Given the description of an element on the screen output the (x, y) to click on. 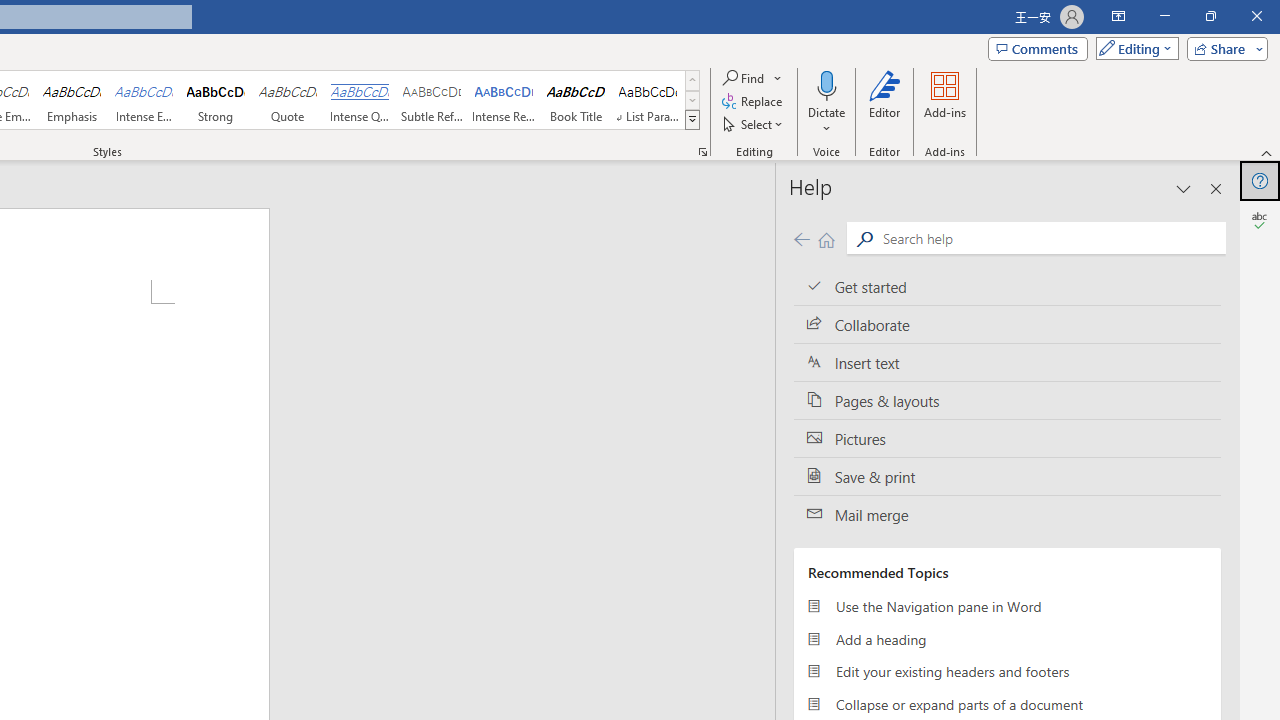
Insert text (1007, 363)
Edit your existing headers and footers (1007, 672)
